Given the description of an element on the screen output the (x, y) to click on. 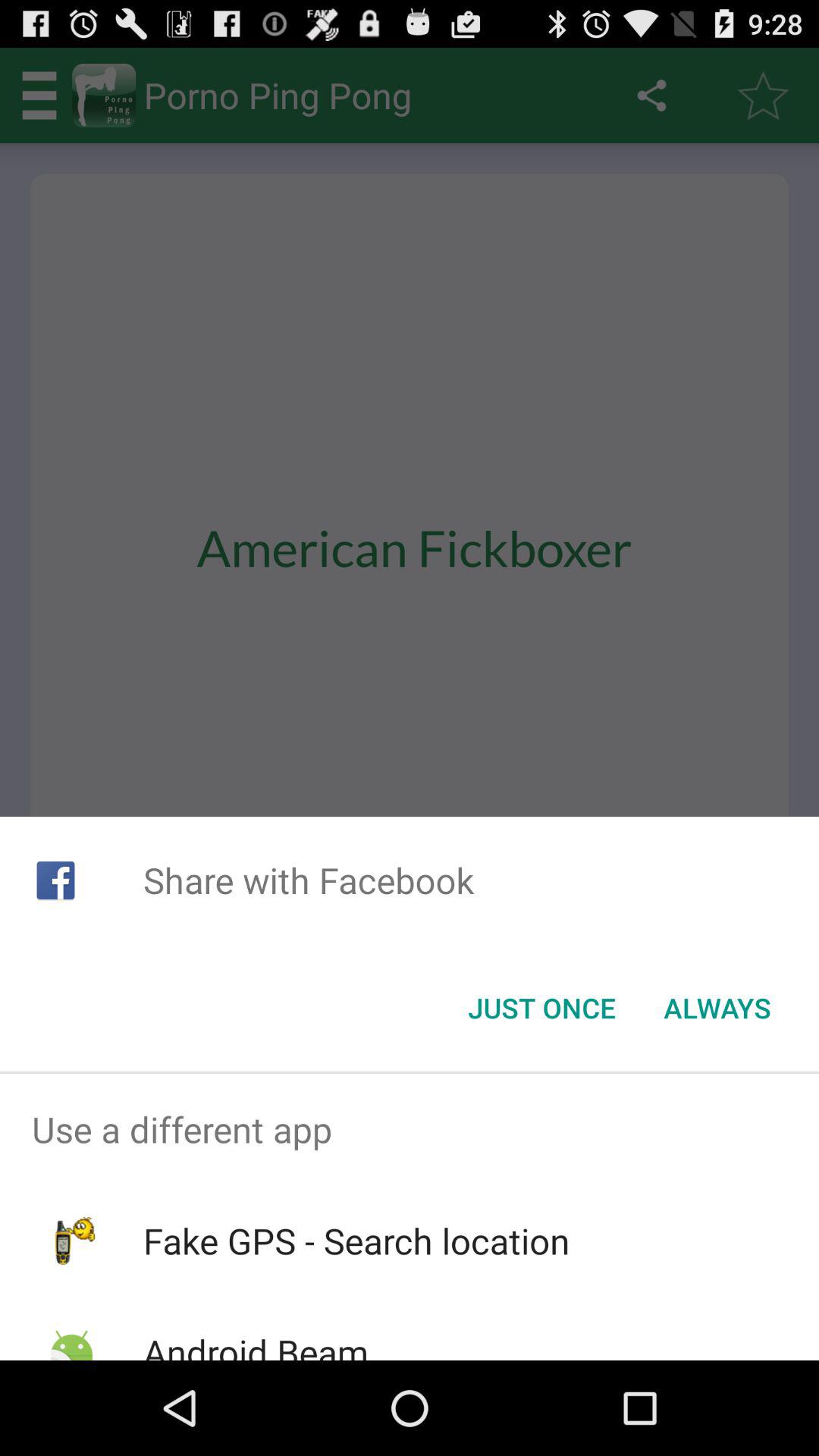
turn on just once item (541, 1007)
